Given the description of an element on the screen output the (x, y) to click on. 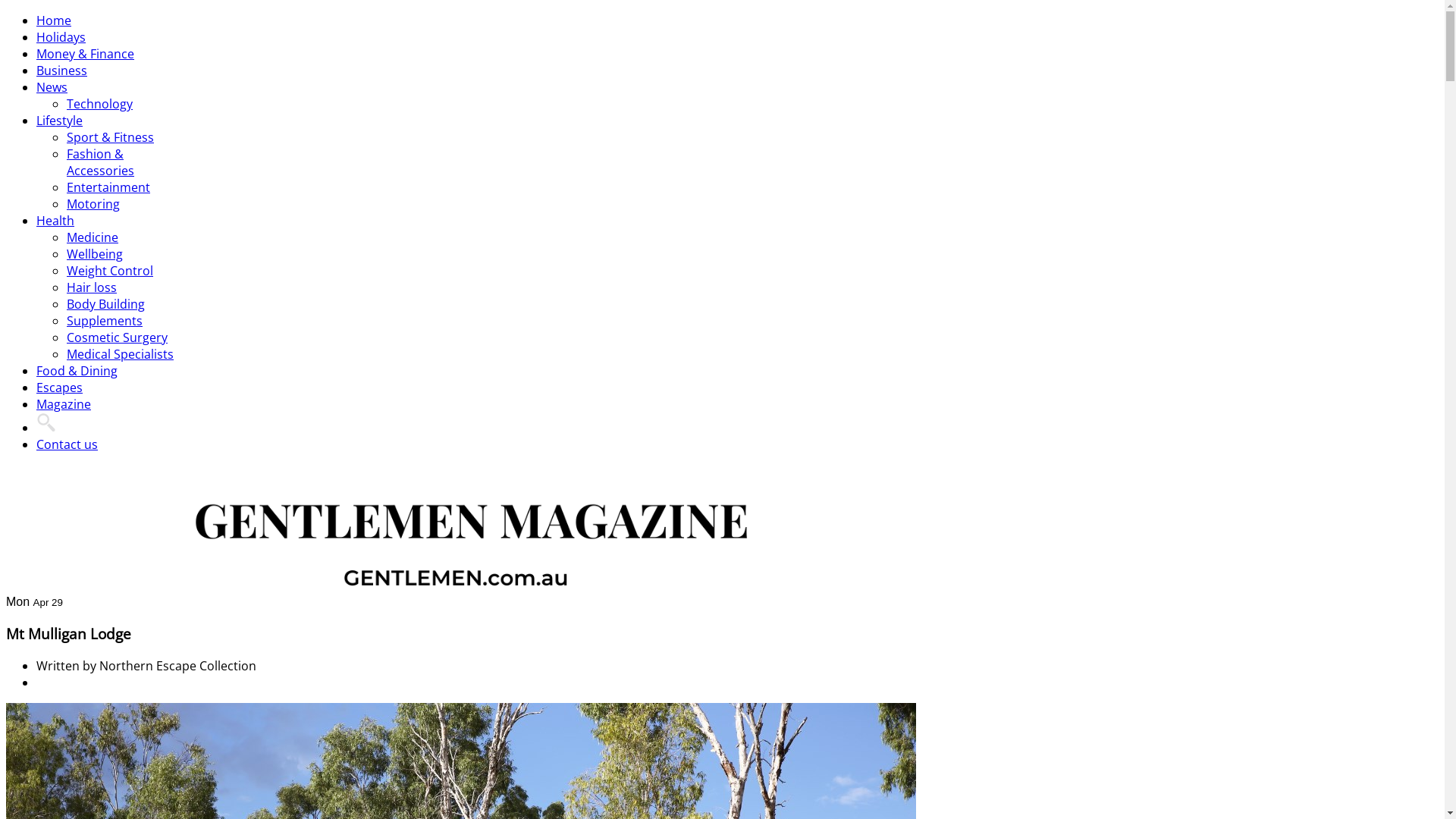
Hair loss Element type: text (91, 287)
Money & Finance Element type: text (85, 53)
Home Element type: text (53, 20)
Escapes Element type: text (59, 387)
Contact us Element type: text (66, 444)
Medicine Element type: text (92, 237)
Entertainment Element type: text (108, 186)
Motoring Element type: text (92, 203)
Medical Specialists Element type: text (119, 353)
Magazine Element type: text (63, 403)
Technology Element type: text (99, 103)
News Element type: text (51, 86)
Cosmetic Surgery Element type: text (116, 337)
Sport & Fitness Element type: text (109, 136)
Business Element type: text (61, 70)
Wellbeing Element type: text (94, 253)
Health Element type: text (55, 220)
Weight Control Element type: text (109, 270)
Fashion & Accessories Element type: text (100, 161)
Lifestyle Element type: text (59, 120)
Supplements Element type: text (104, 320)
Food & Dining Element type: text (76, 370)
Holidays Element type: text (60, 36)
Body Building Element type: text (105, 303)
